Given the description of an element on the screen output the (x, y) to click on. 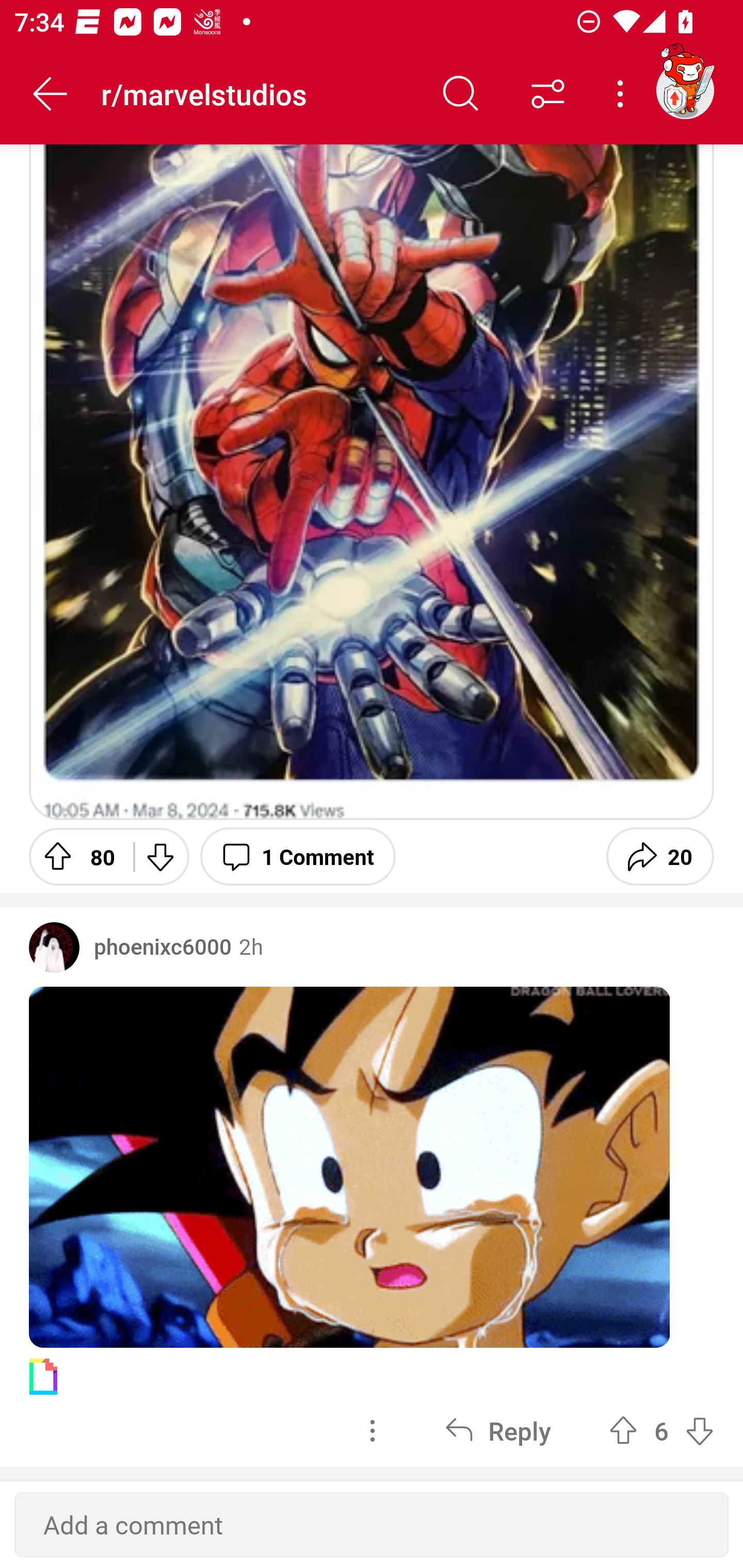
Back (50, 93)
TestAppium002 account (685, 90)
Search comments (460, 93)
Sort comments (547, 93)
More options (623, 93)
r/marvelstudios (259, 92)
Image (371, 482)
Upvote 80 (73, 856)
Downvote (158, 856)
1 Comment (297, 856)
Share 20 (660, 856)
Avatar (53, 946)
GIF GIPHY logo (371, 1182)
options (372, 1430)
Reply (498, 1430)
Upvote 6 6 votes Downvote (661, 1430)
Add a comment (371, 1524)
